Given the description of an element on the screen output the (x, y) to click on. 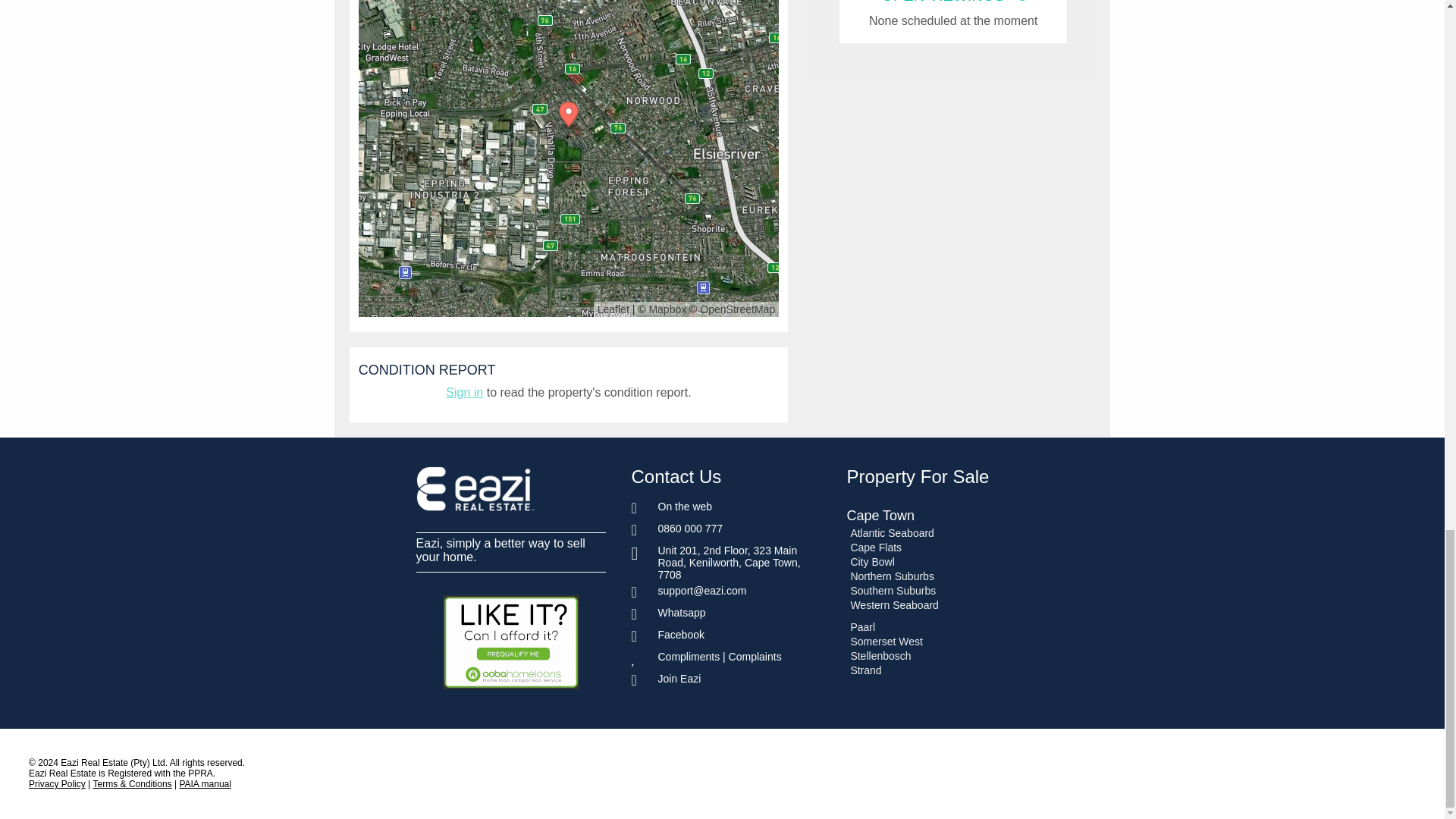
A JS library for interactive maps (612, 309)
Leaflet (612, 309)
